Given the description of an element on the screen output the (x, y) to click on. 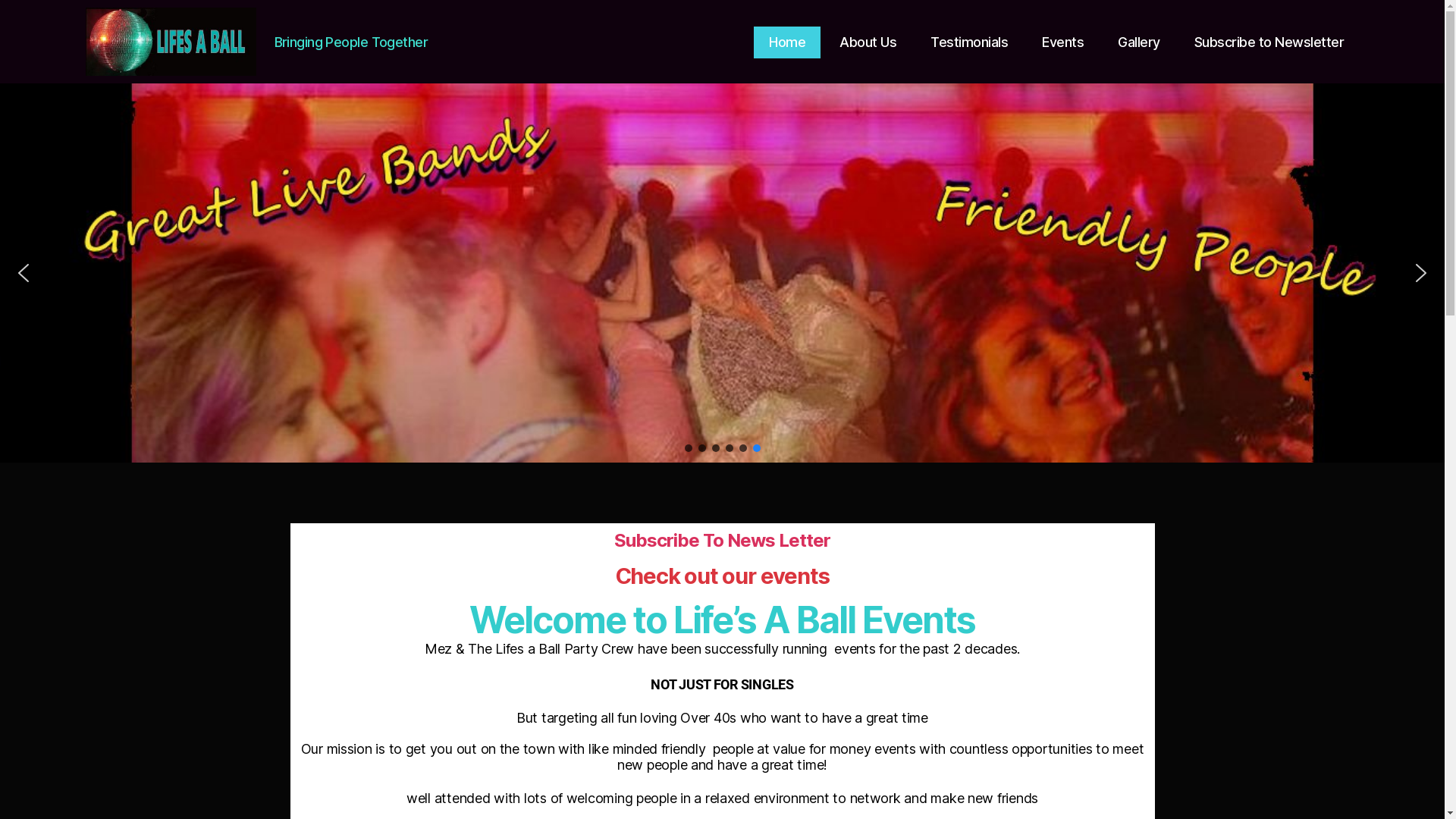
Home Element type: text (786, 42)
Check out our events Element type: text (722, 575)
Gallery Element type: text (1138, 42)
Subscribe To News Letter Element type: text (722, 540)
Testimonials Element type: text (968, 42)
Subscribe to Newsletter Element type: text (1269, 42)
About Us Element type: text (867, 42)
Events Element type: text (1062, 42)
